Given the description of an element on the screen output the (x, y) to click on. 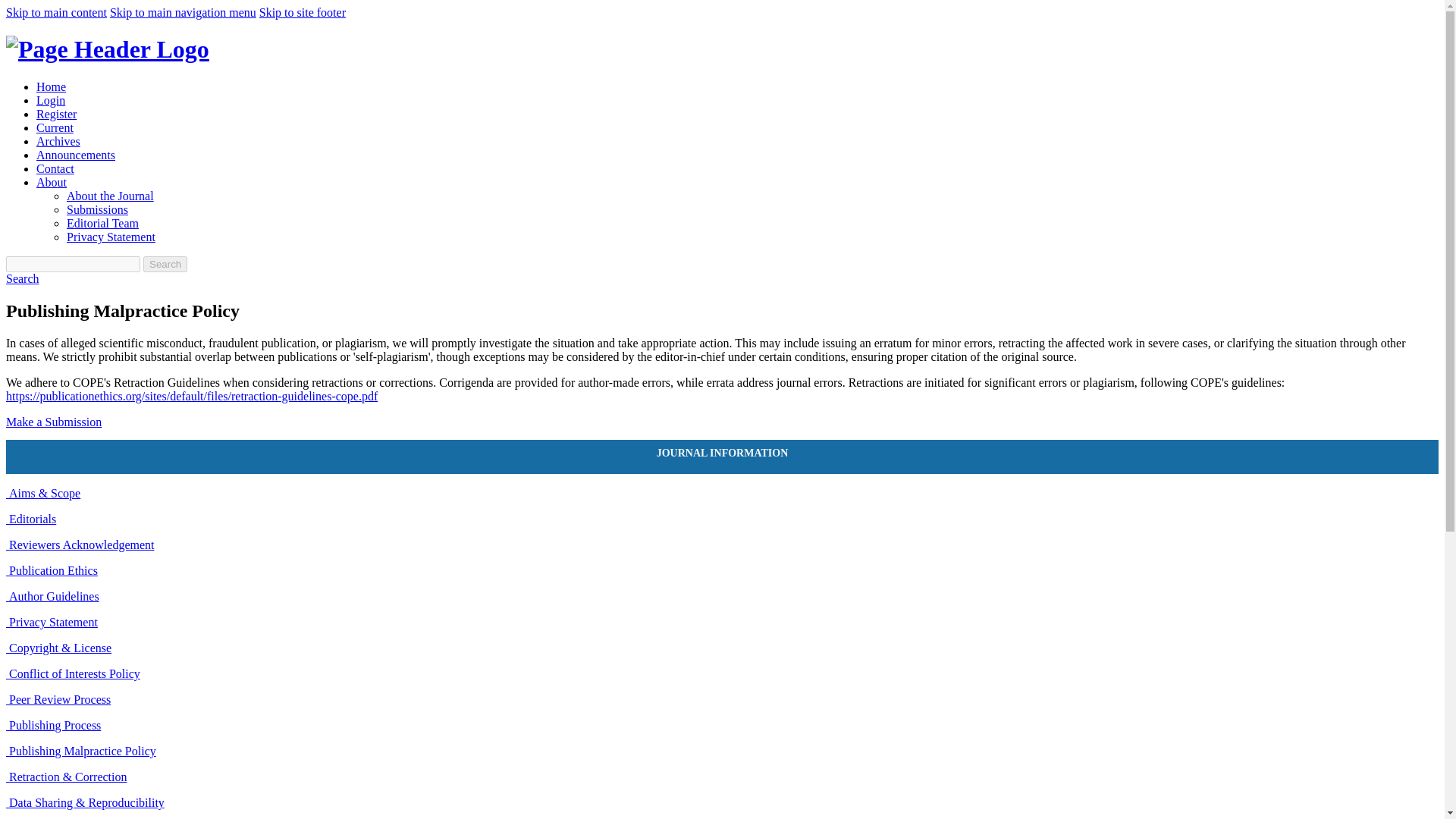
 Editorials (30, 518)
About (51, 182)
 Author Guidelines (52, 595)
 Conflict of Interests Policy (72, 673)
Author guidelines (52, 595)
 Publishing Process (52, 725)
Announcements (75, 154)
Archives (58, 141)
 Publishing Malpractice Policy (80, 750)
Search (22, 278)
Peer Review Process (57, 698)
Skip to main content (55, 11)
About the Journal (110, 195)
Aims and Scope (42, 492)
COPE's Retraction Guidelines (191, 395)
